Given the description of an element on the screen output the (x, y) to click on. 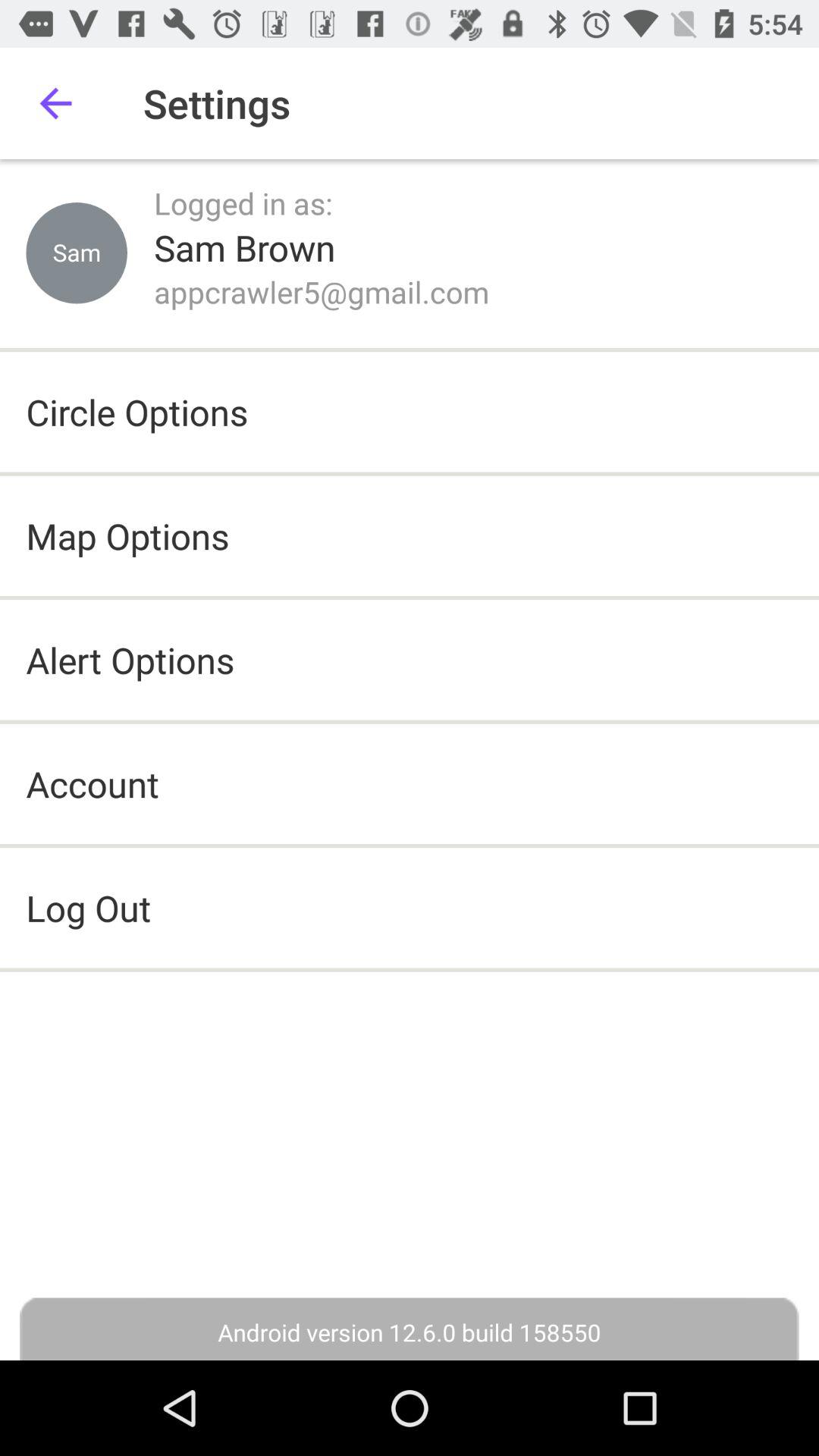
turn on the icon to the left of settings item (55, 103)
